Given the description of an element on the screen output the (x, y) to click on. 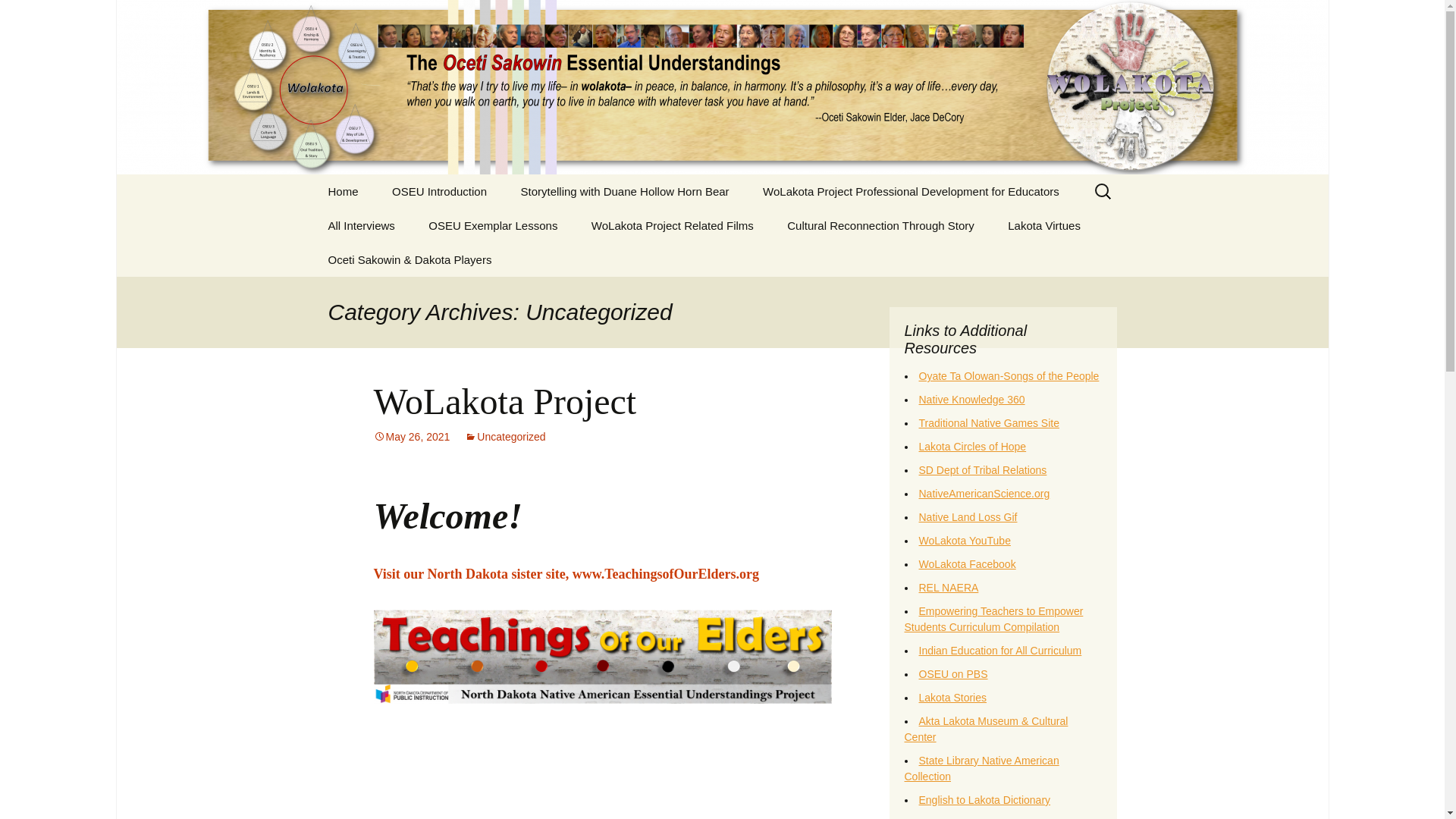
OSEU Introduction (439, 191)
Quick OSEU Overview Activity (452, 230)
OSEU 1 Interviews (388, 259)
WoLakota Project Professional Development for Educators (911, 191)
OSEU Exemplar Lessons (492, 225)
Permalink to WoLakota Project (410, 436)
All Interviews (361, 225)
Home (342, 191)
Storytelling with Duane Hollow Horn Bear (624, 191)
